Given the description of an element on the screen output the (x, y) to click on. 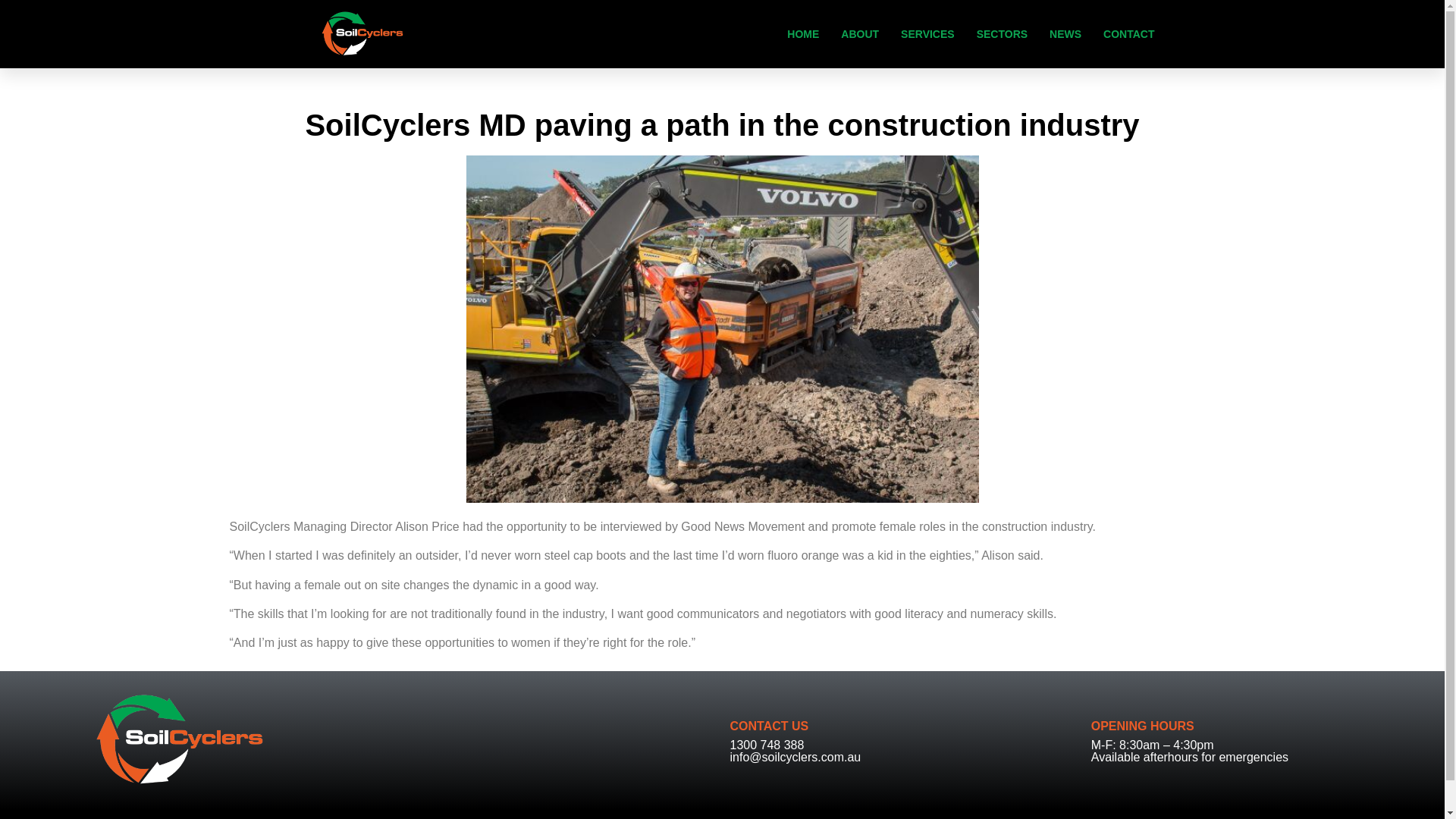
SECTORS (1001, 33)
SERVICES (928, 33)
NEWS (1065, 33)
HOME (802, 33)
ABOUT (860, 33)
CONTACT (1128, 33)
